Given the description of an element on the screen output the (x, y) to click on. 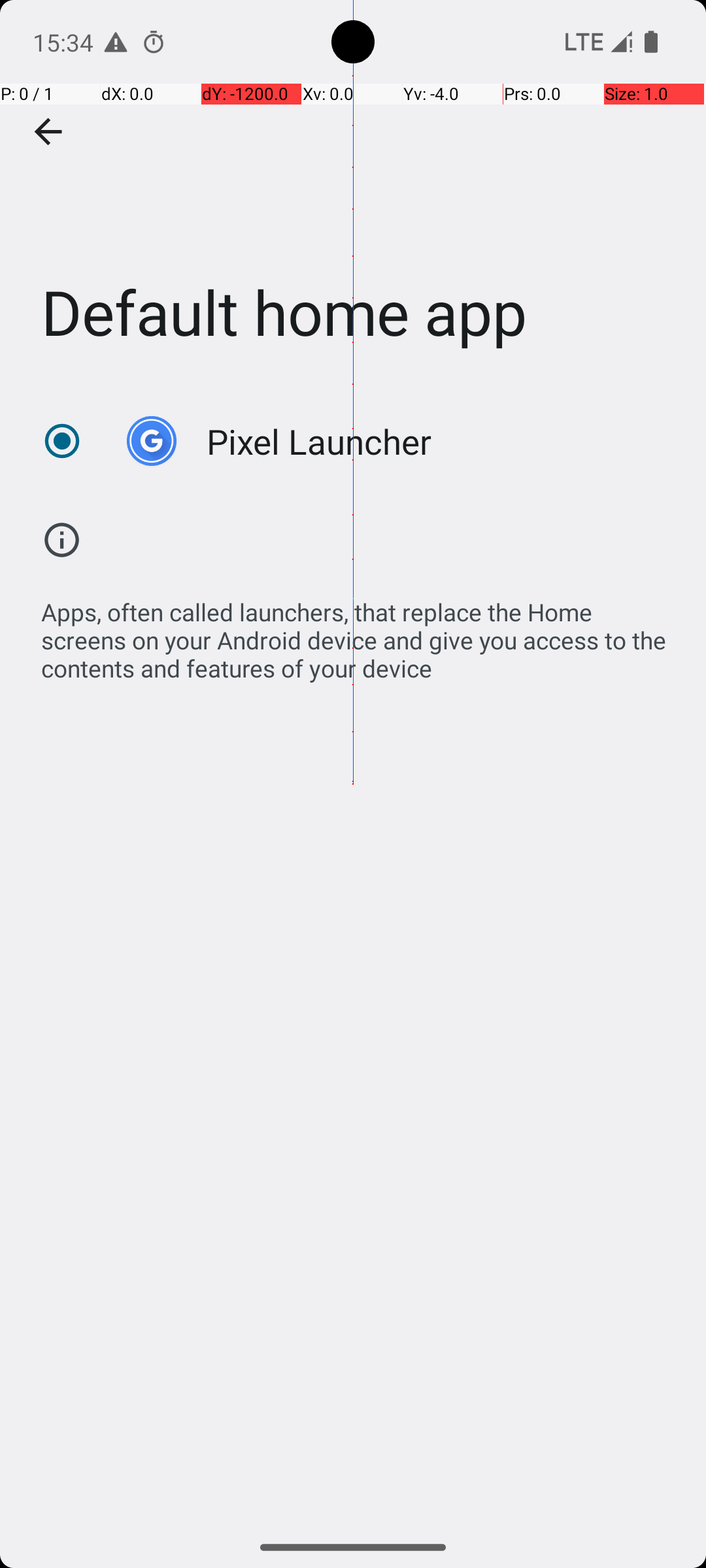
Default home app Element type: android.widget.FrameLayout (353, 195)
Pixel Launcher Element type: android.widget.TextView (319, 441)
Apps, often called launchers, that replace the Home screens on your Android device and give you access to the contents and features of your device Element type: android.widget.TextView (359, 632)
